Given the description of an element on the screen output the (x, y) to click on. 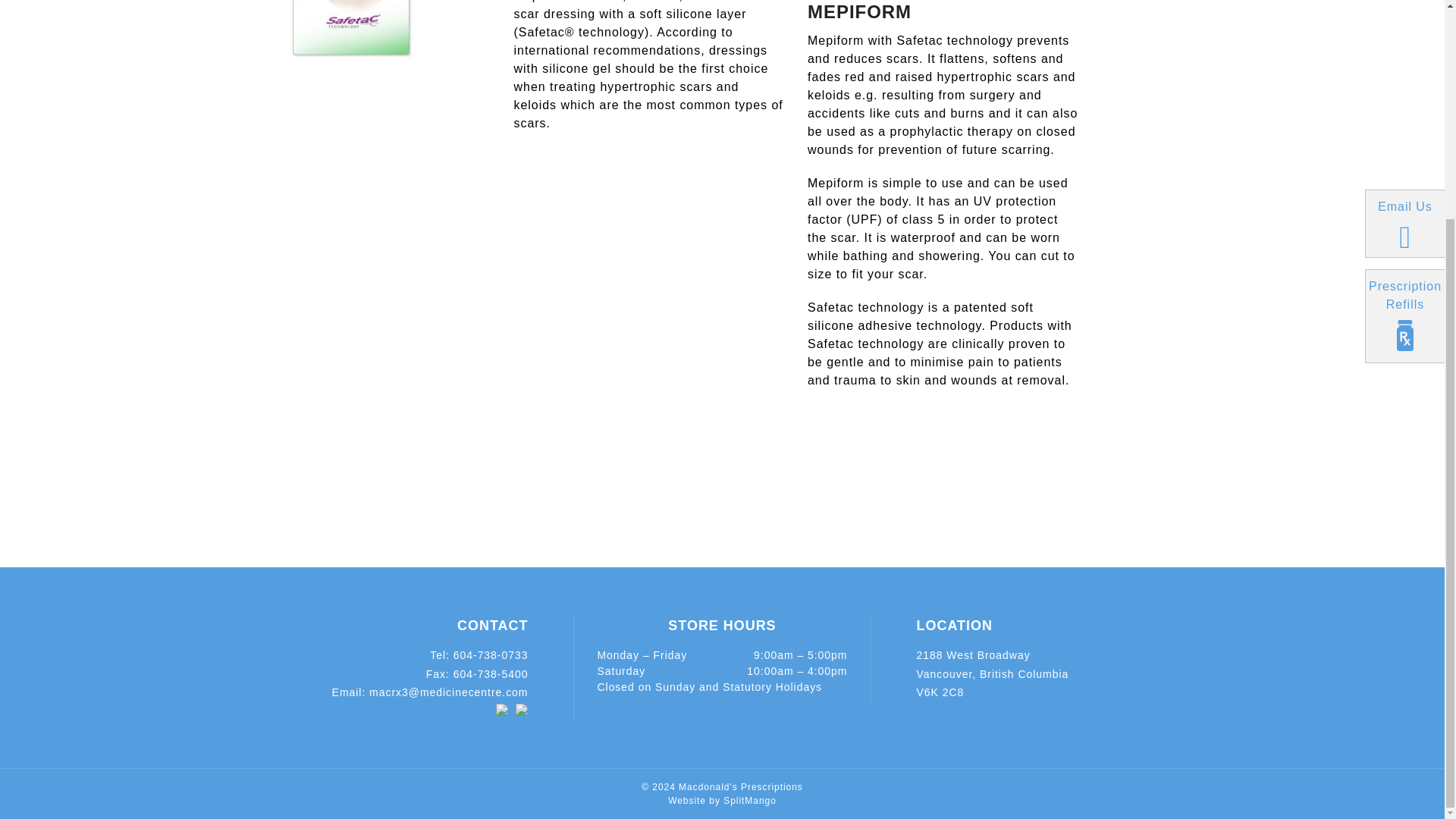
SplitMango (749, 800)
604-738-0733 (490, 654)
604-738-5400 (490, 674)
